Given the description of an element on the screen output the (x, y) to click on. 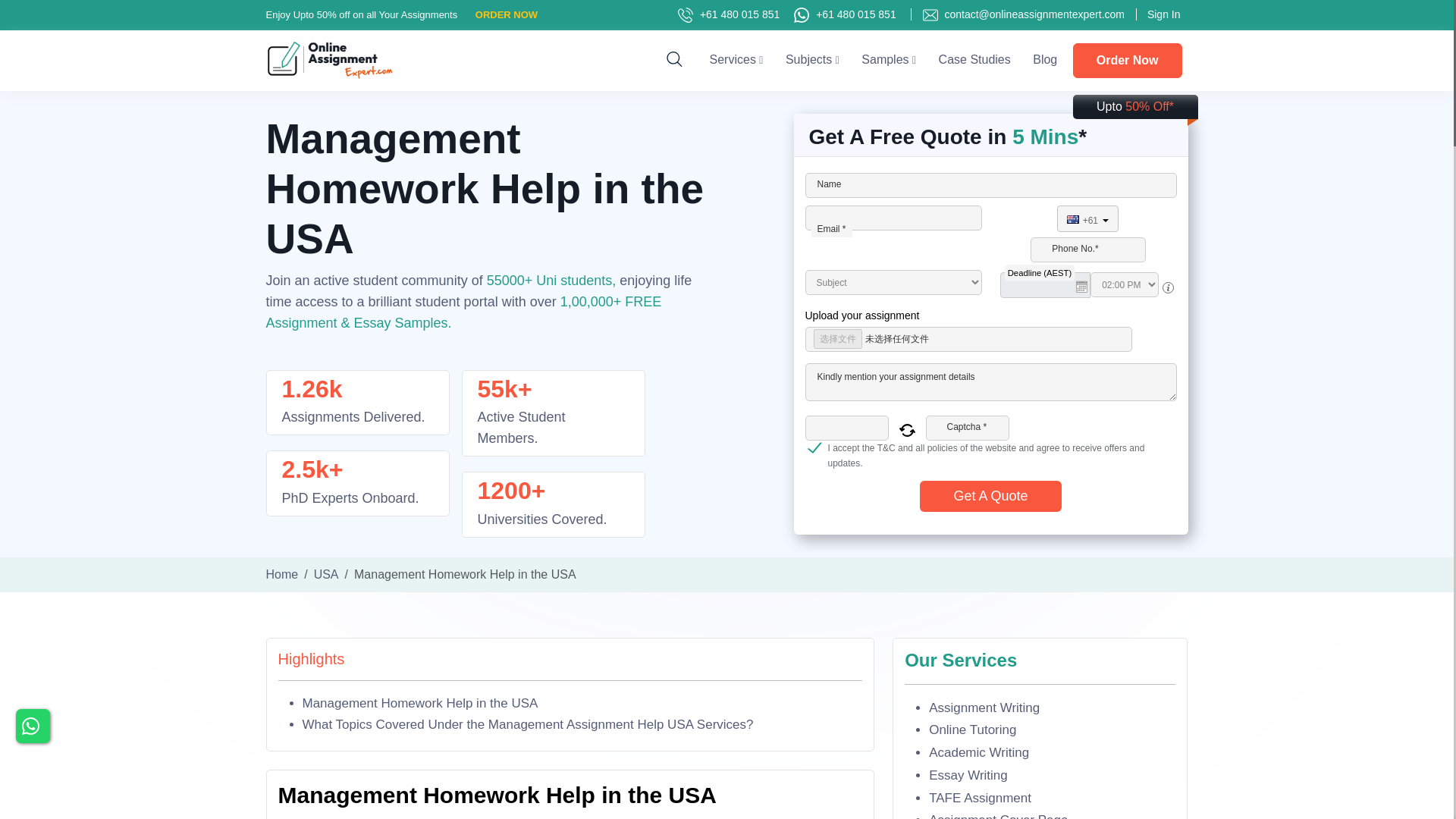
Management Homework Help in the USA (419, 703)
Subjects (813, 59)
Management Homework Help in the USA (419, 703)
Sign In (1157, 14)
Services (736, 59)
